Given the description of an element on the screen output the (x, y) to click on. 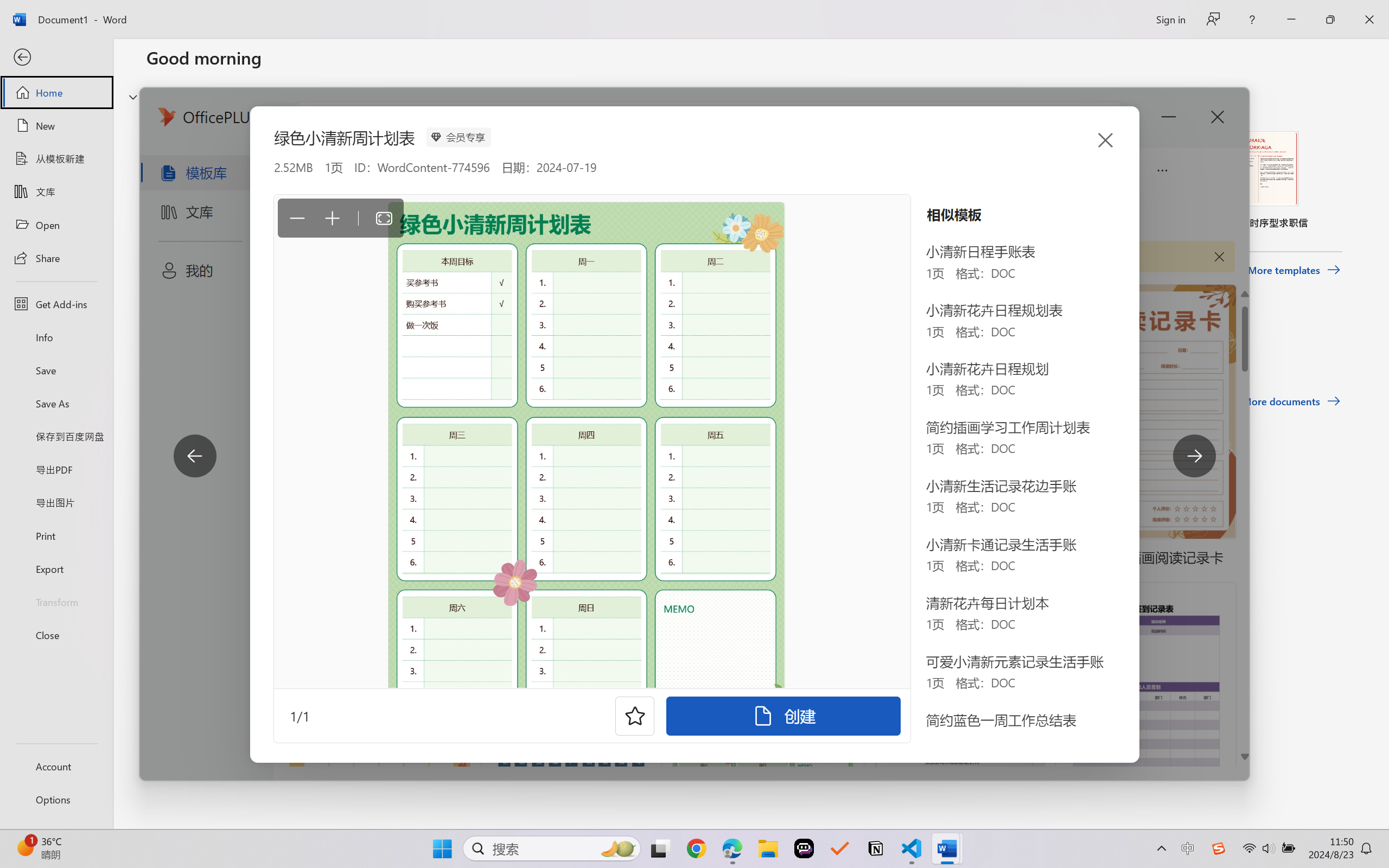
Shared with Me (305, 345)
Recent (171, 345)
Sign in (1170, 18)
Pinned (226, 345)
Export (56, 568)
Transform (56, 601)
